Given the description of an element on the screen output the (x, y) to click on. 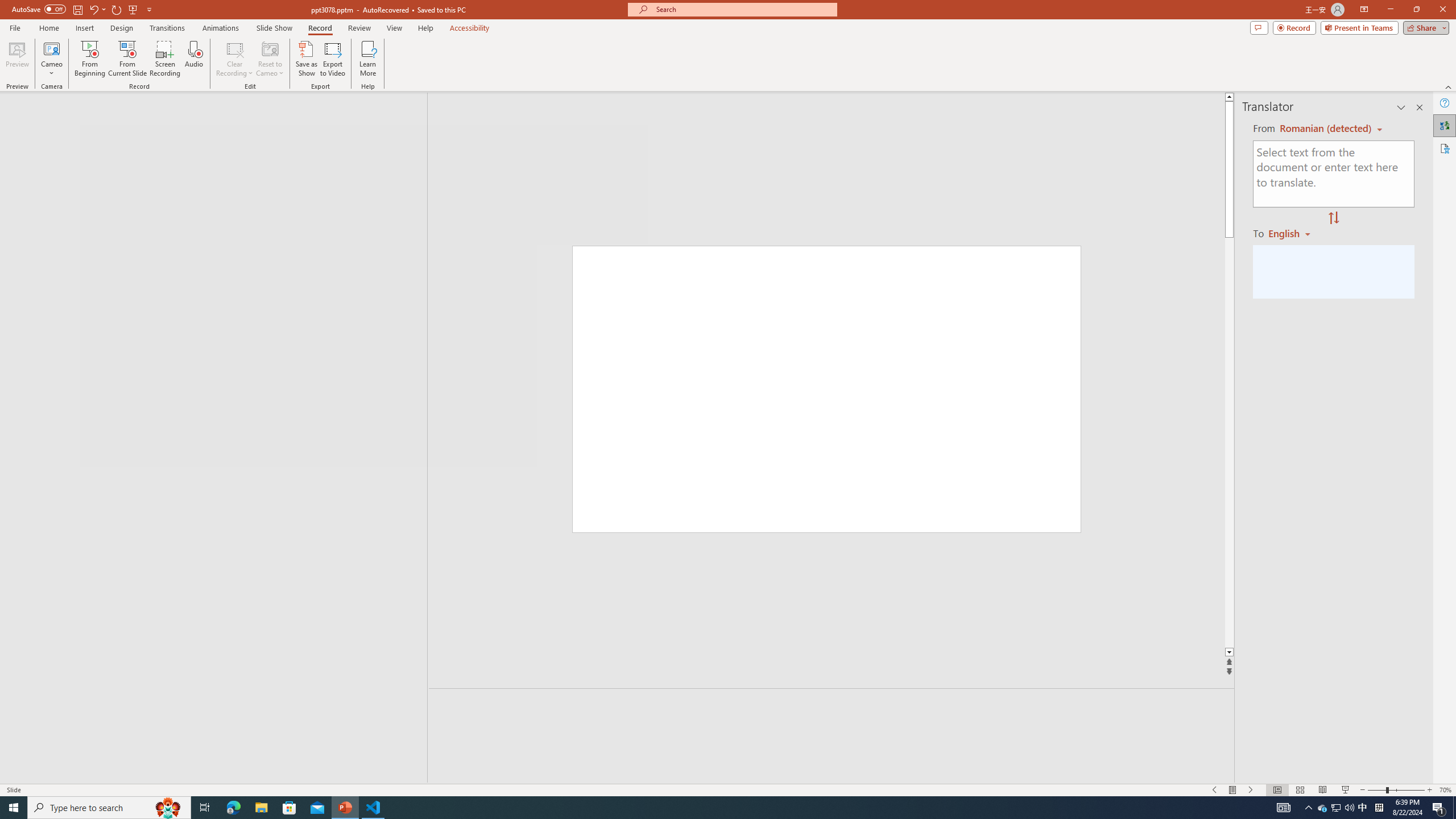
Slide Sorter (1299, 790)
AutoSave (38, 9)
Minimize (1390, 9)
Rectangle (208, 437)
Quick Access Toolbar (82, 9)
Cameo (51, 58)
Present in Teams (1359, 27)
Accessibility (1444, 147)
Slide Show (273, 28)
Menu On (1232, 790)
Design (122, 28)
Insert (83, 28)
From Beginning (133, 9)
